Given the description of an element on the screen output the (x, y) to click on. 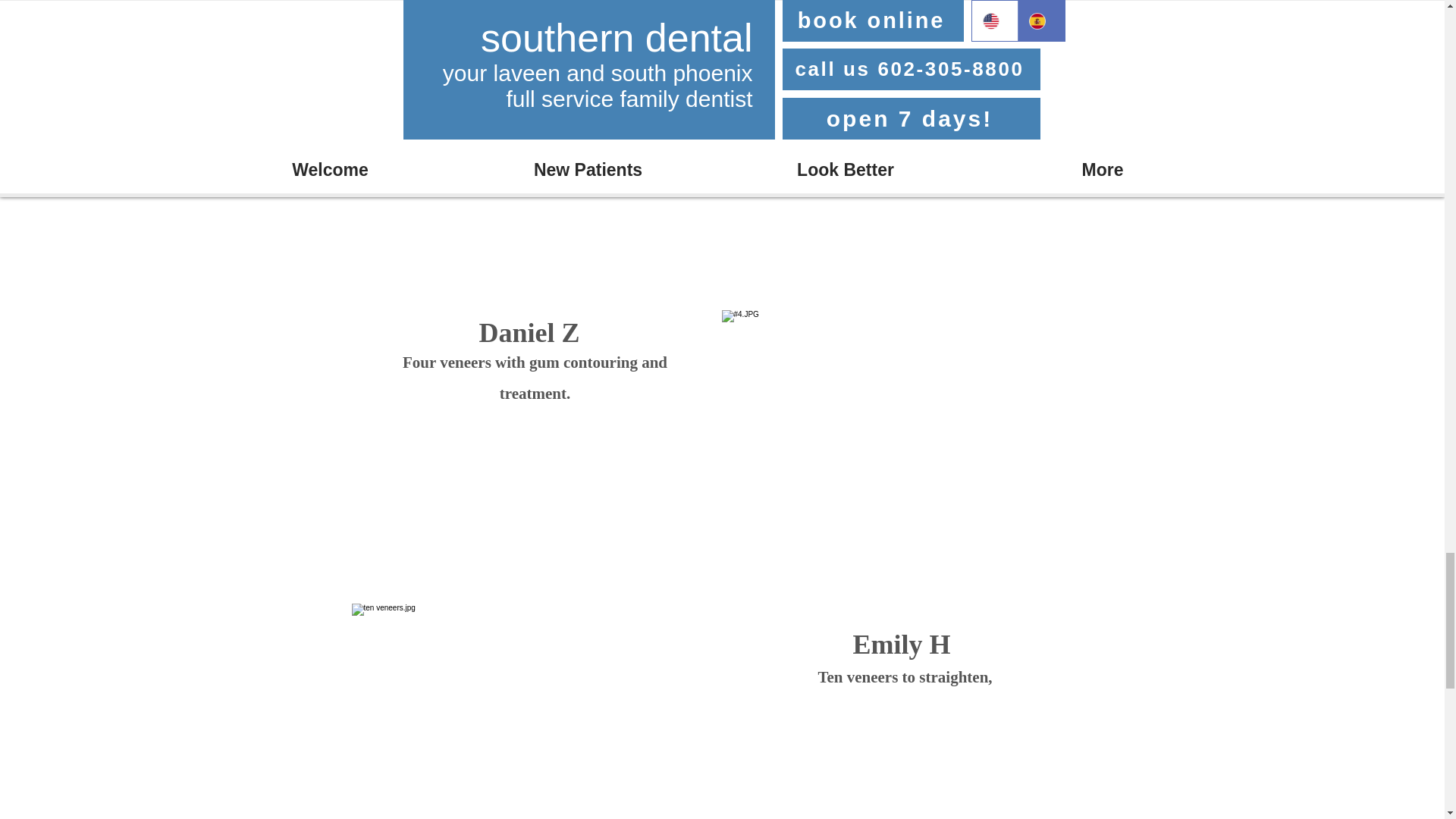
Invisalign Veneers 2.JPG (535, 711)
Invisalign Veneers 2.JPG (905, 454)
Invisalign Veneers 2.JPG (536, 166)
Invisalign Veneers 2.JPG (905, 9)
